Given the description of an element on the screen output the (x, y) to click on. 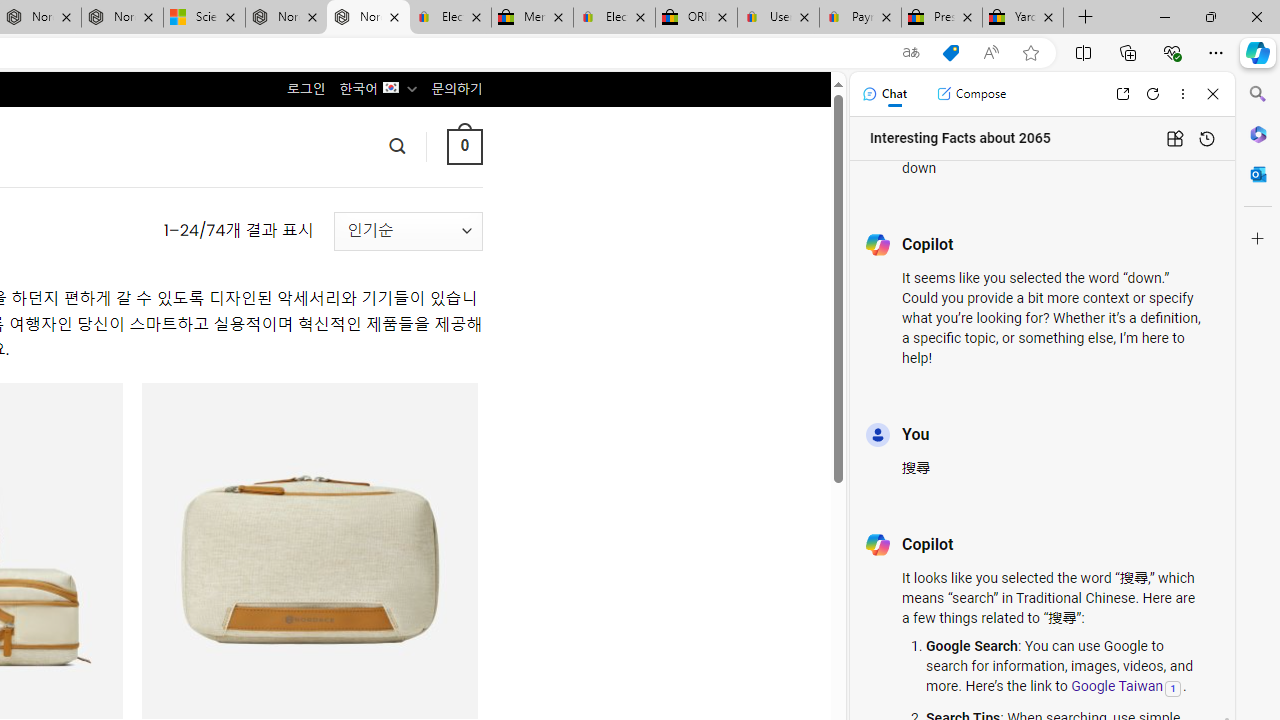
This site has coupons! Shopping in Microsoft Edge (950, 53)
 0  (464, 146)
Compose (971, 93)
